Given the description of an element on the screen output the (x, y) to click on. 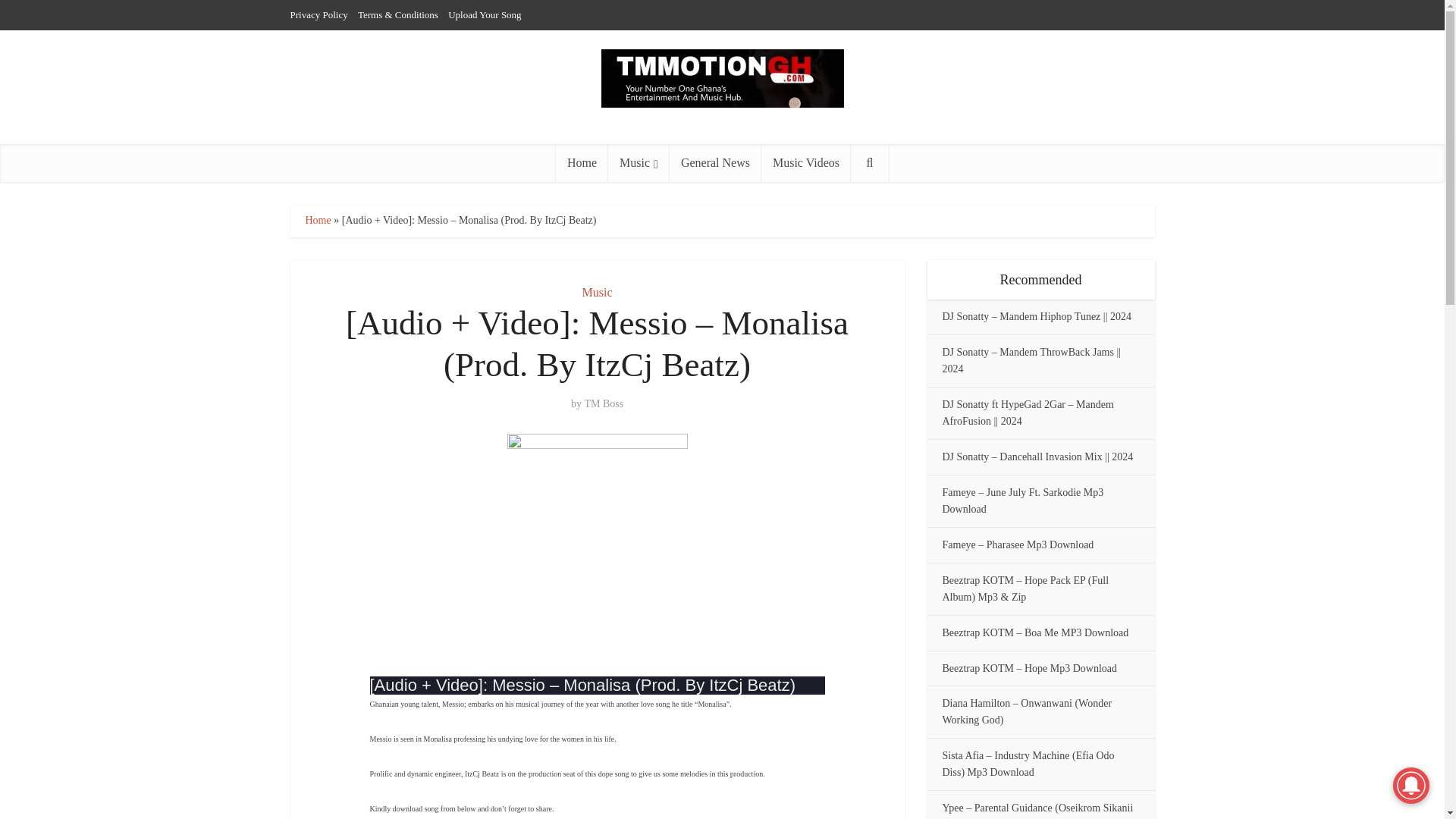
General News (715, 162)
Music (638, 162)
Upload Your Song (484, 14)
Home (317, 220)
Music Videos (805, 162)
Privacy Policy (318, 14)
TM Boss (603, 404)
Music (597, 291)
Home (582, 162)
DOWNLOAD MP3 AUDIO  (414, 818)
